Given the description of an element on the screen output the (x, y) to click on. 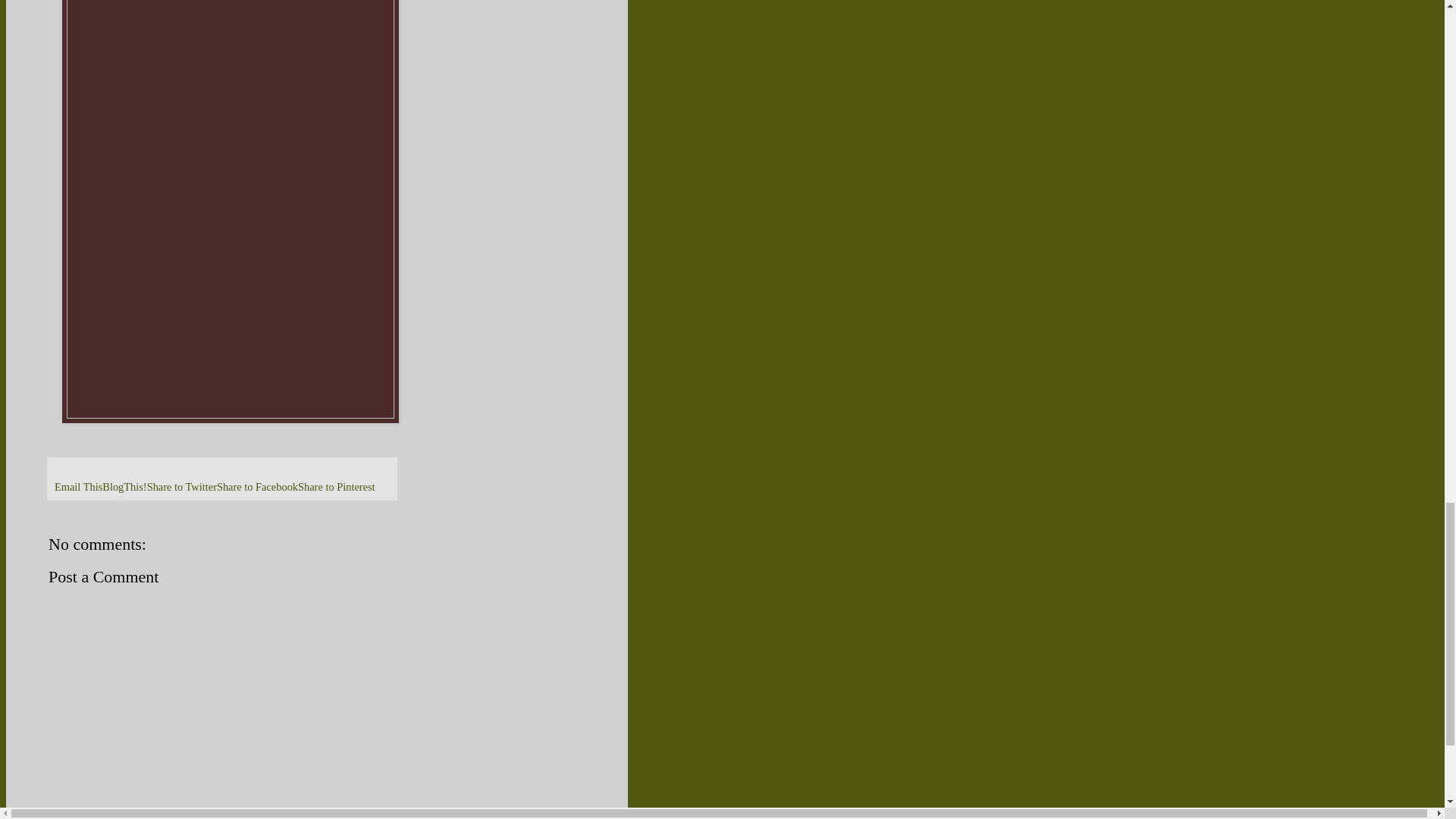
Share to Twitter (181, 486)
Share to Facebook (257, 486)
Email This (78, 486)
Email This (78, 486)
BlogThis! (124, 486)
Share to Pinterest (336, 486)
BlogThis! (124, 486)
Share to Pinterest (336, 486)
Share to Facebook (257, 486)
Share to Twitter (181, 486)
Email Post (61, 469)
